Given the description of an element on the screen output the (x, y) to click on. 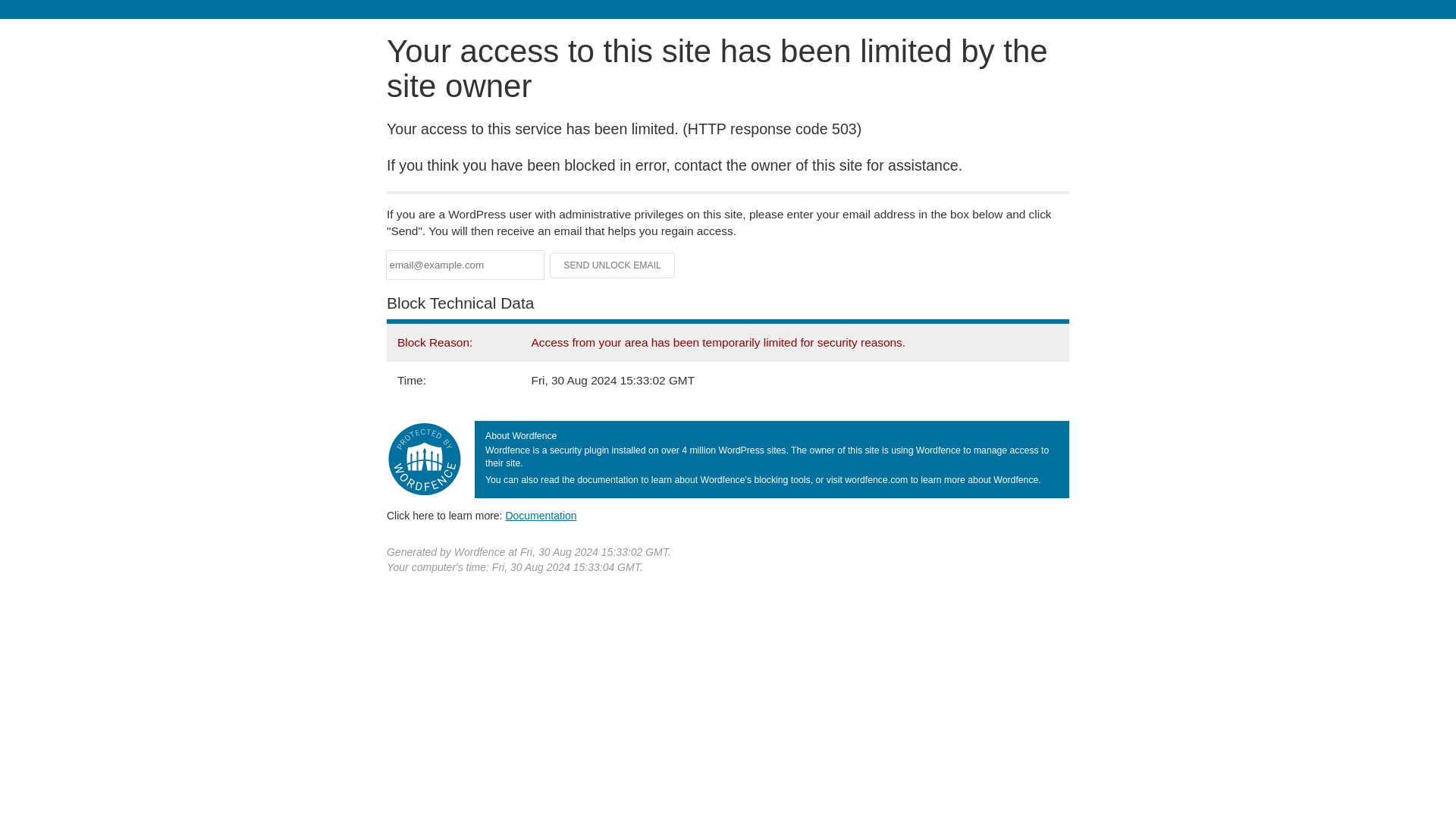
Send Unlock Email (612, 265)
Documentation (540, 515)
Send Unlock Email (612, 265)
